Given the description of an element on the screen output the (x, y) to click on. 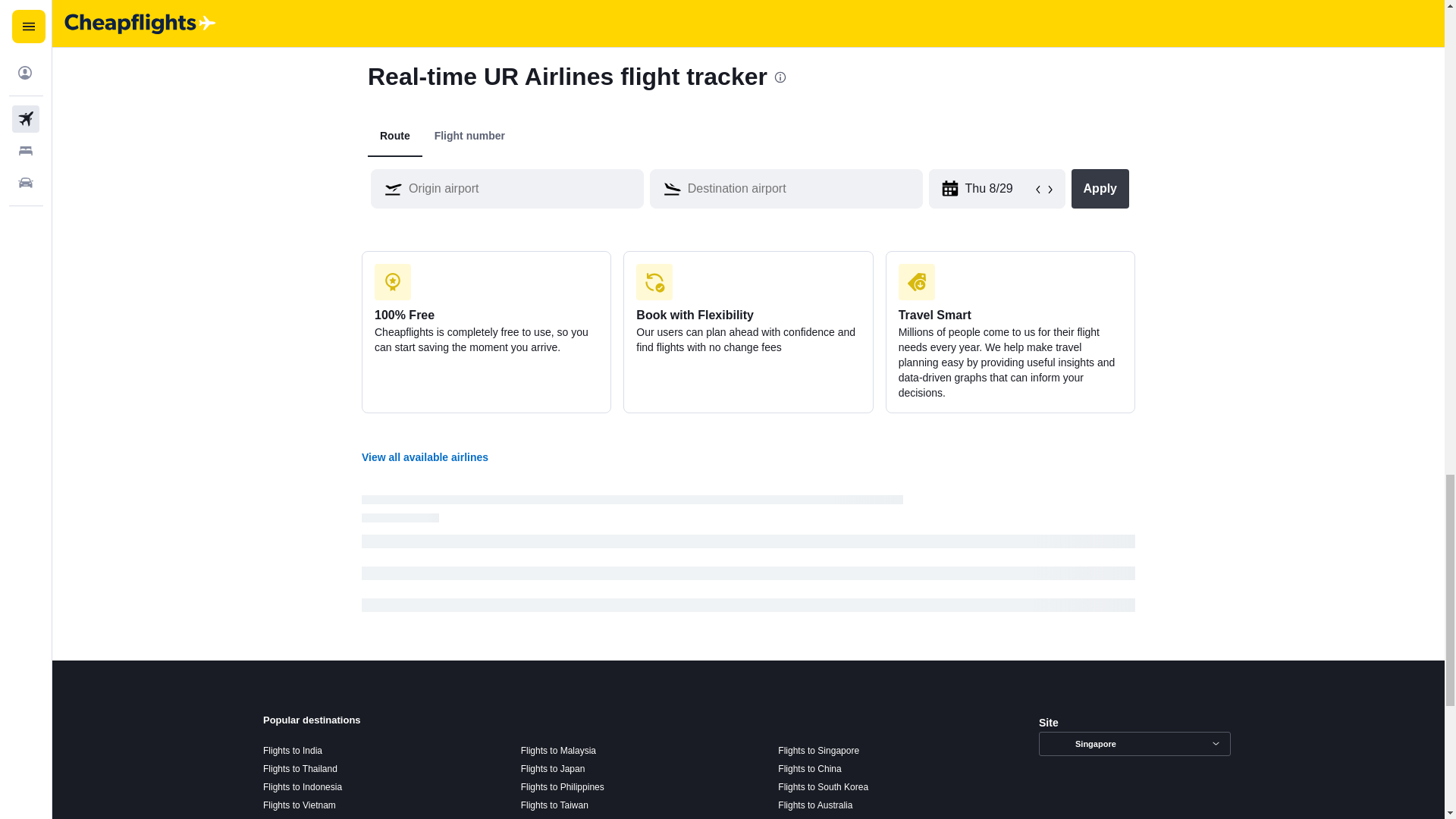
Singapore car hire (417, 14)
Tokyo car hire (406, 0)
Sapporo car hire (919, 14)
Jeju City car hire (667, 14)
Ipoh car hire (656, 0)
